Given the description of an element on the screen output the (x, y) to click on. 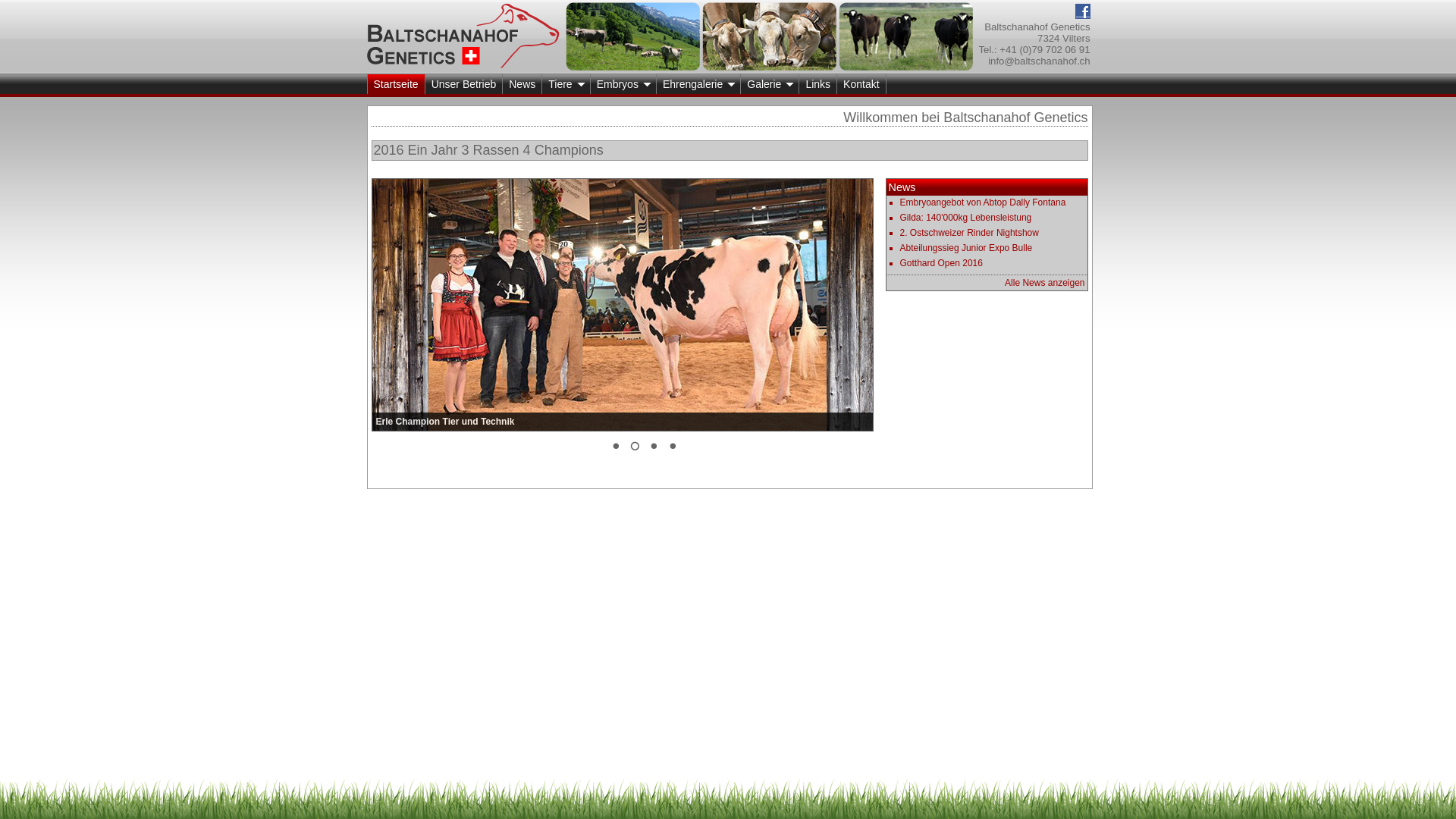
1 Element type: text (614, 448)
2 Element type: text (634, 448)
Embryos Element type: text (622, 83)
Gotthard Open 2016 Element type: text (940, 262)
Embryoangebot von Abtop Dally Fontana Element type: text (982, 202)
Baltschanahof Genetics Element type: hover (461, 36)
Baltschanahof auf Facebook Element type: hover (1082, 17)
Links Element type: text (817, 83)
Gilda: 140'000kg Lebensleistung Element type: text (965, 217)
Ehrengalerie Element type: text (697, 83)
Kontakt Element type: text (860, 83)
Startseite Element type: text (396, 83)
Unser Betrieb Element type: text (463, 83)
3 Element type: text (652, 448)
Galerie Element type: text (769, 83)
2. Ostschweizer Rinder Nightshow Element type: text (968, 232)
Tiere Element type: text (565, 83)
News Element type: text (522, 83)
4 Element type: text (672, 448)
Abteilungssieg Junior Expo Bulle Element type: text (965, 247)
info@baltschanahof.ch Element type: text (1038, 60)
Alle News anzeigen Element type: text (1044, 282)
